Given the description of an element on the screen output the (x, y) to click on. 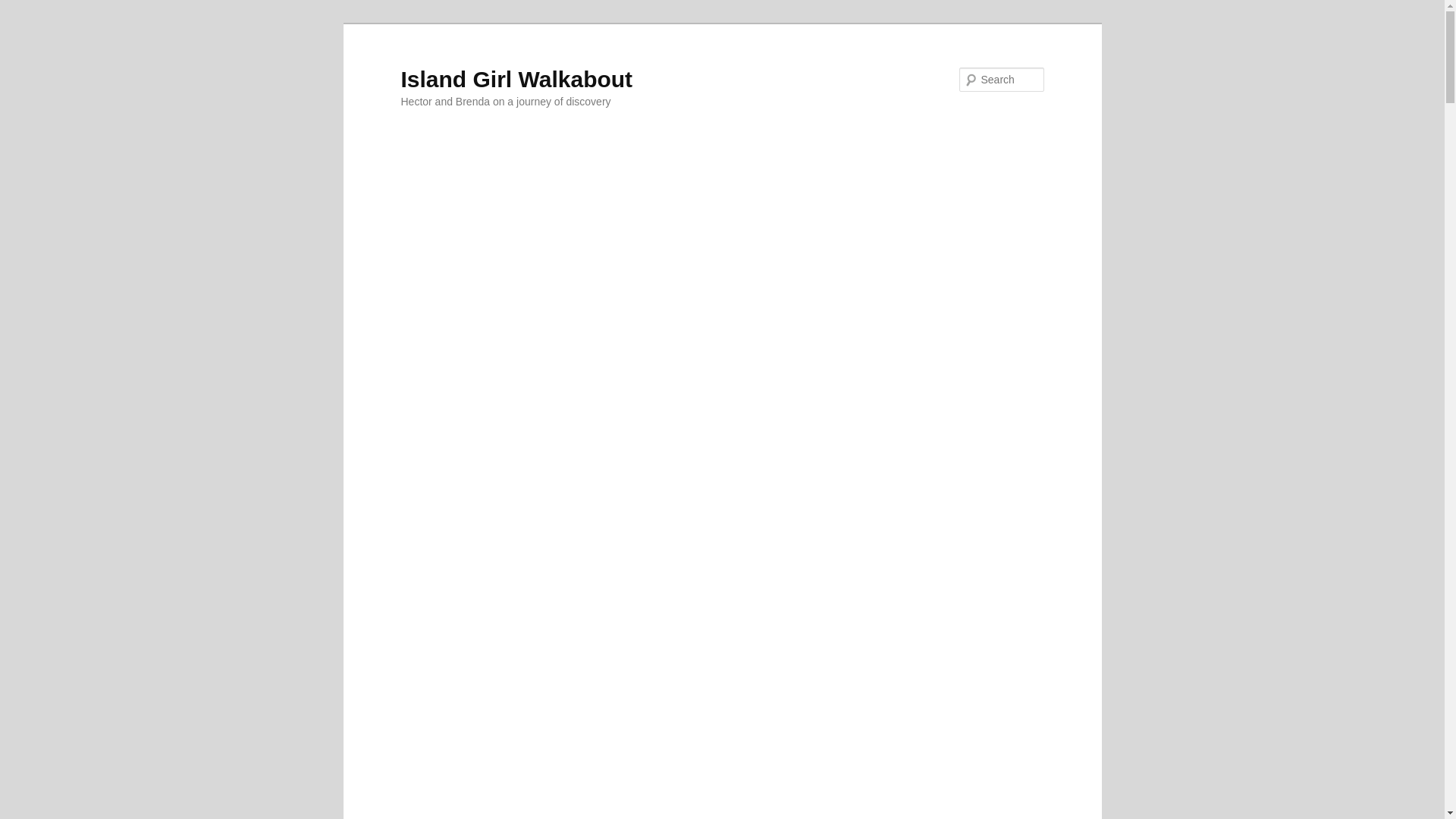
Search (24, 8)
Island Girl Walkabout (515, 78)
